Given the description of an element on the screen output the (x, y) to click on. 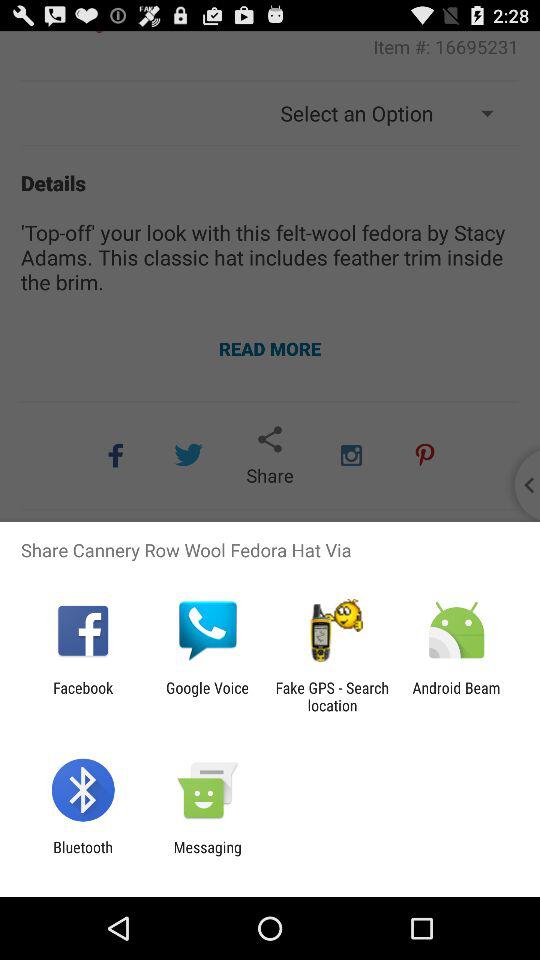
swipe until the messaging app (207, 856)
